Given the description of an element on the screen output the (x, y) to click on. 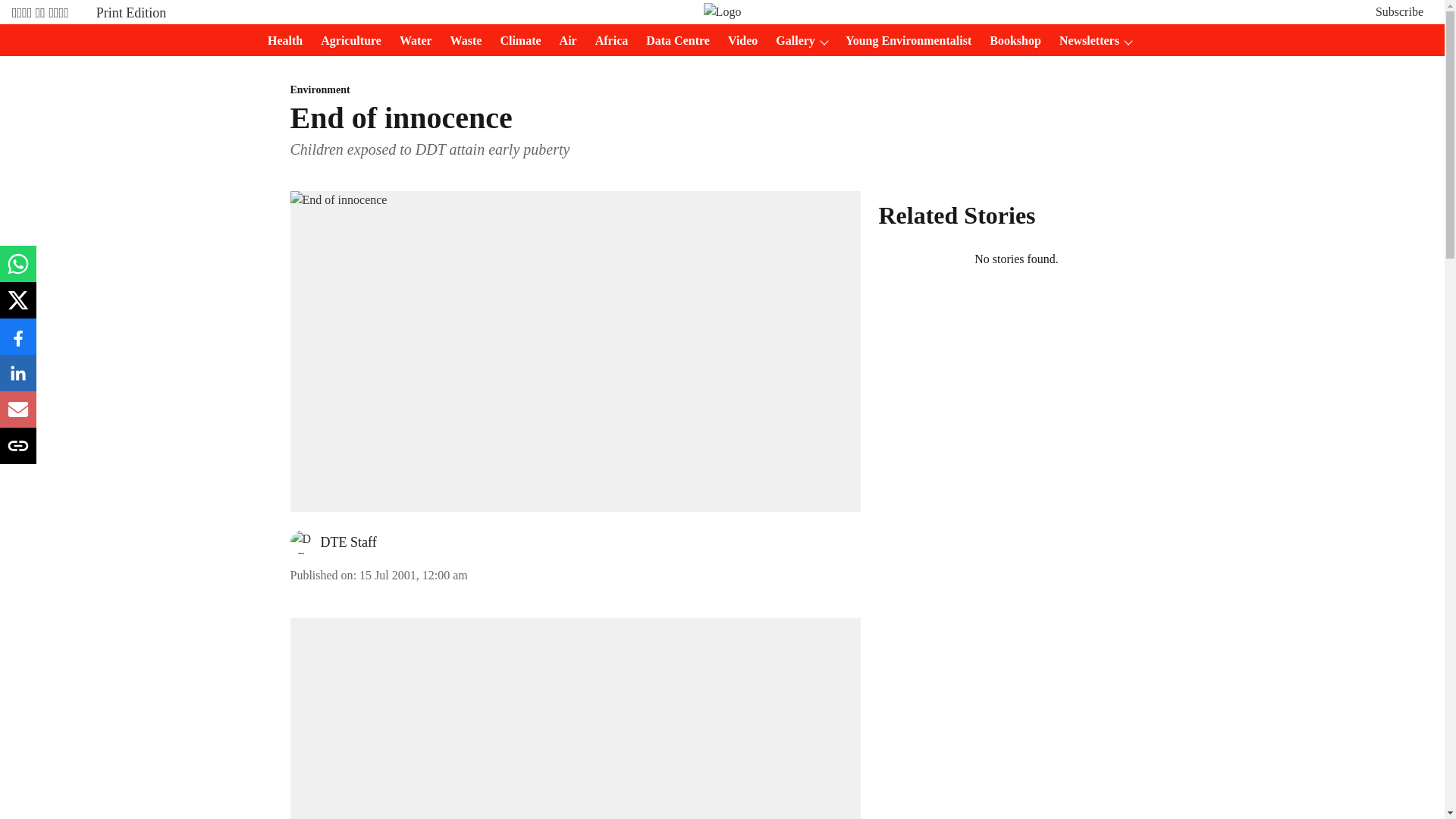
Data Centre (673, 40)
Young Environmentalist (903, 40)
Waste (461, 40)
DTE Staff (347, 541)
Water (411, 40)
Climate (515, 40)
Environment (574, 90)
Health (280, 40)
Video (738, 40)
2001-07-15 00:00 (413, 574)
